Given the description of an element on the screen output the (x, y) to click on. 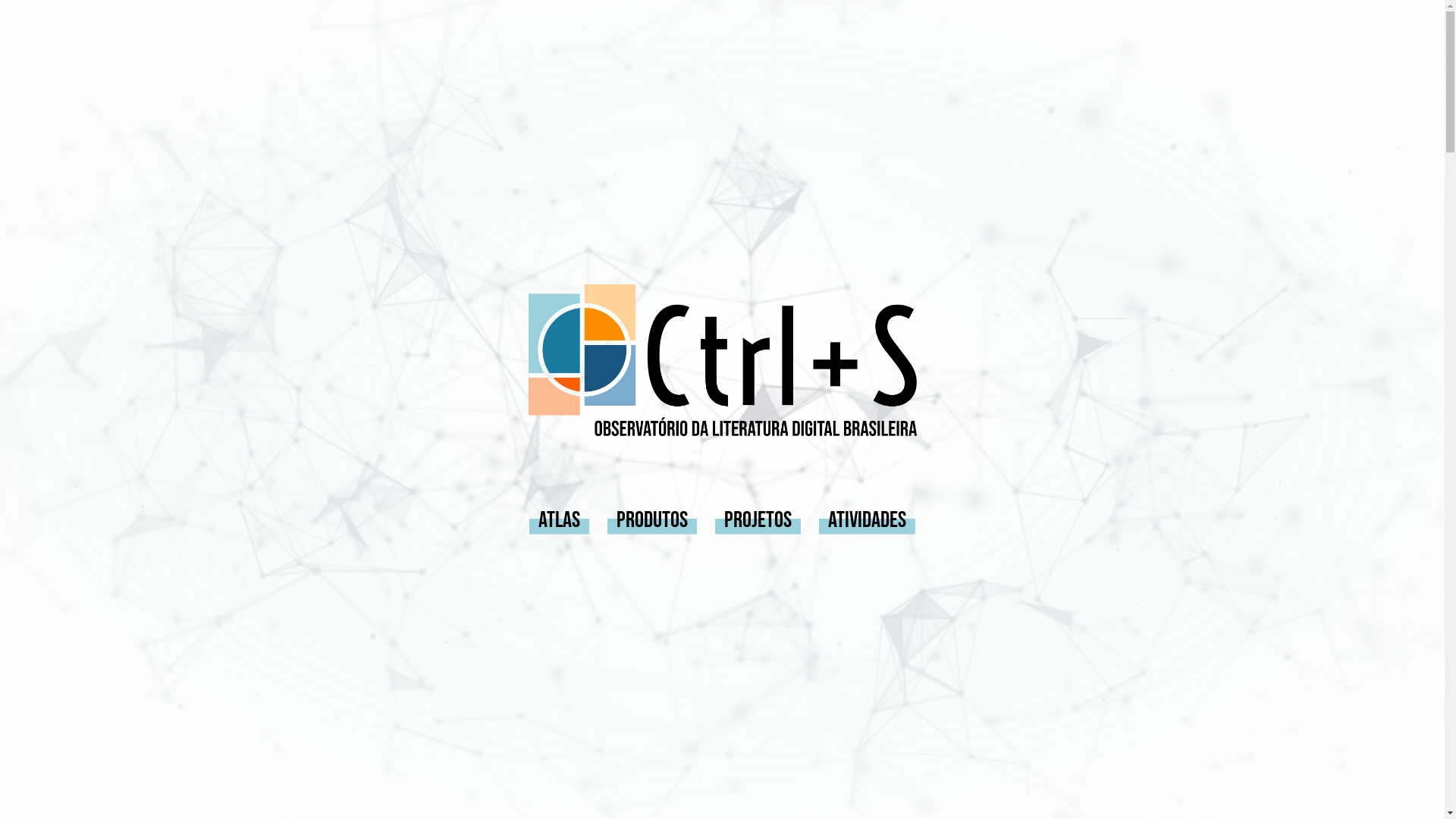
Projetos Element type: text (757, 518)
Produtos Element type: text (651, 518)
Atividades Element type: text (867, 518)
Skip to content Element type: text (15, 7)
Atlas Element type: text (559, 518)
